Given the description of an element on the screen output the (x, y) to click on. 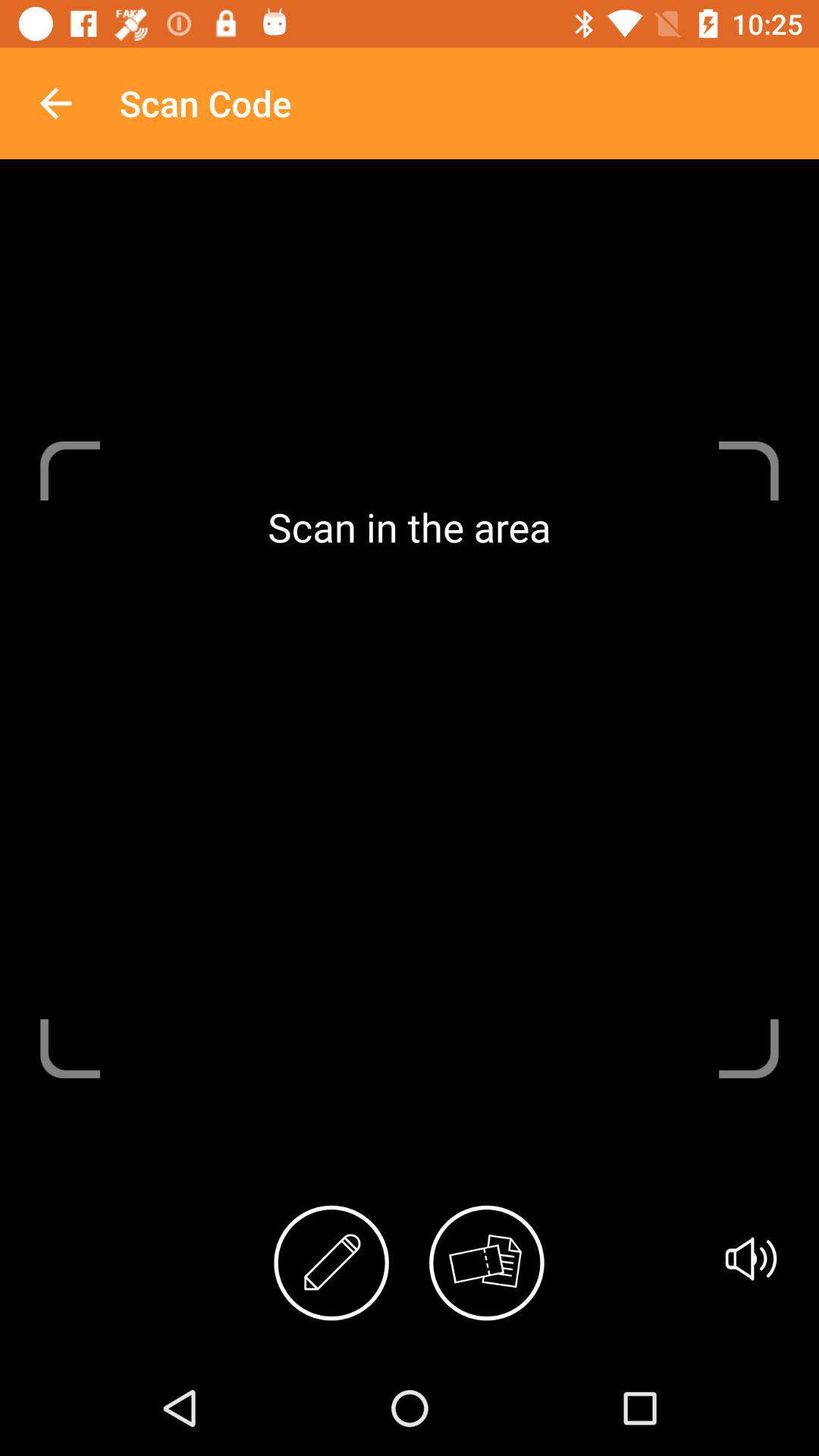
open icon below the scan in the (486, 1262)
